Given the description of an element on the screen output the (x, y) to click on. 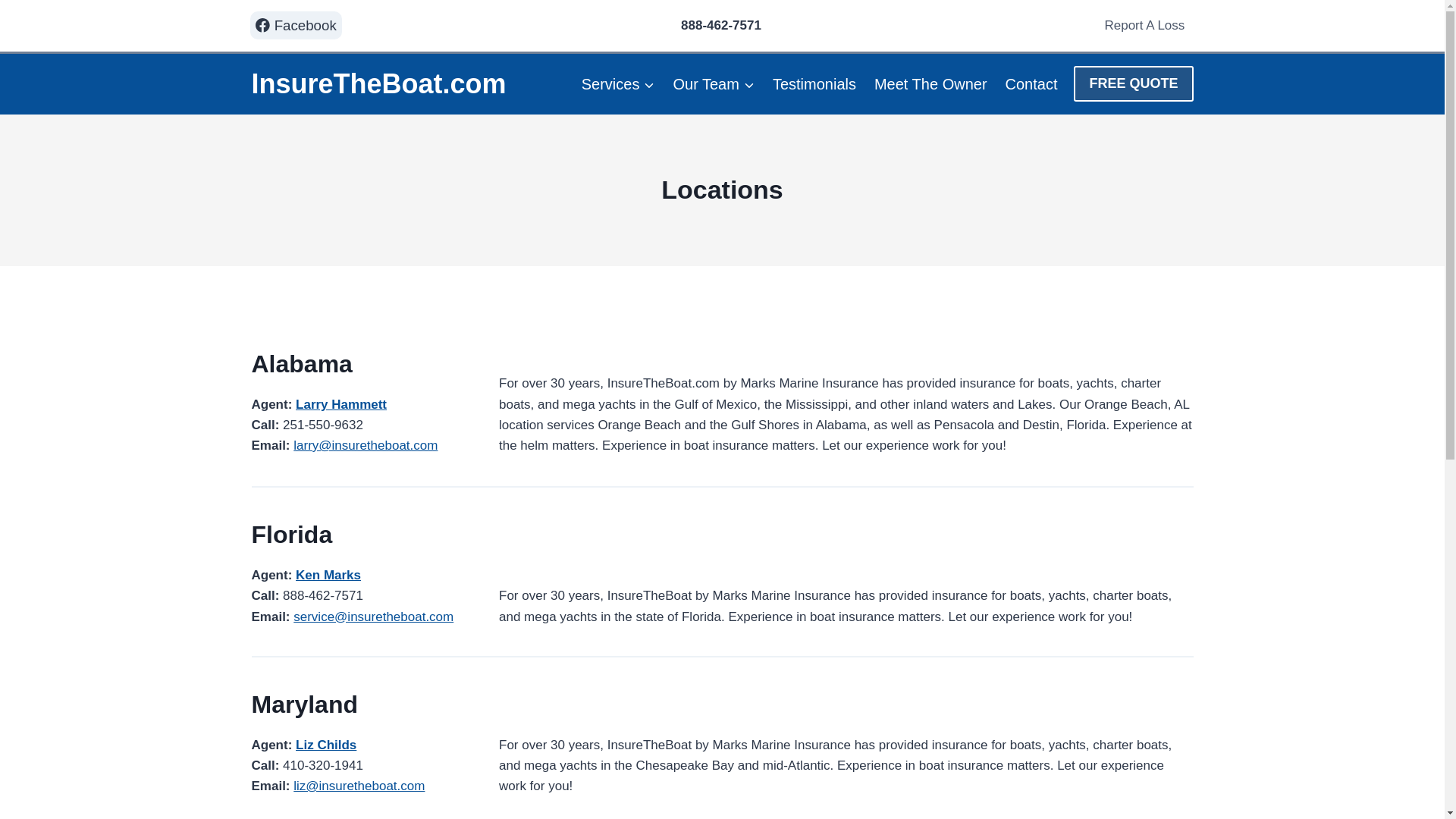
Meet The Owner (929, 84)
Our Team (712, 84)
Liz Childs (325, 744)
Report A Loss (1144, 25)
FREE QUOTE (1133, 83)
Services (617, 84)
Facebook (296, 25)
Testimonials (813, 84)
Ken Marks (328, 575)
Larry Hammett (341, 404)
InsureTheBoat.com (378, 83)
Contact (1031, 84)
